Given the description of an element on the screen output the (x, y) to click on. 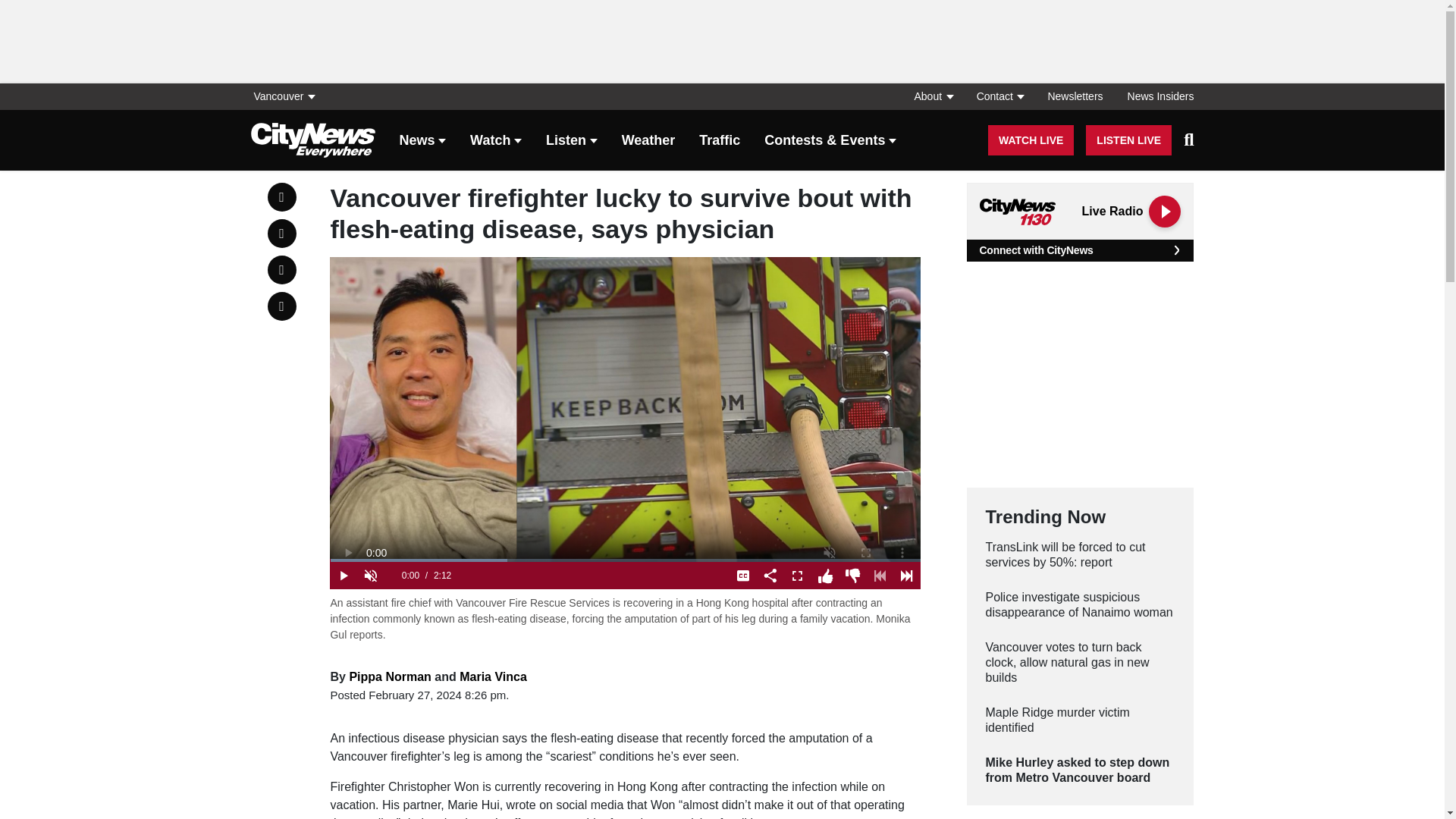
News Insiders (1154, 96)
Share (770, 574)
Unmute (370, 574)
Captions (743, 574)
Fullscreen (797, 574)
Contact (999, 96)
Vancouver (287, 96)
News (421, 140)
Watch (495, 140)
Listen (571, 140)
Newsletters (1075, 96)
About (932, 96)
Play (343, 574)
